Given the description of an element on the screen output the (x, y) to click on. 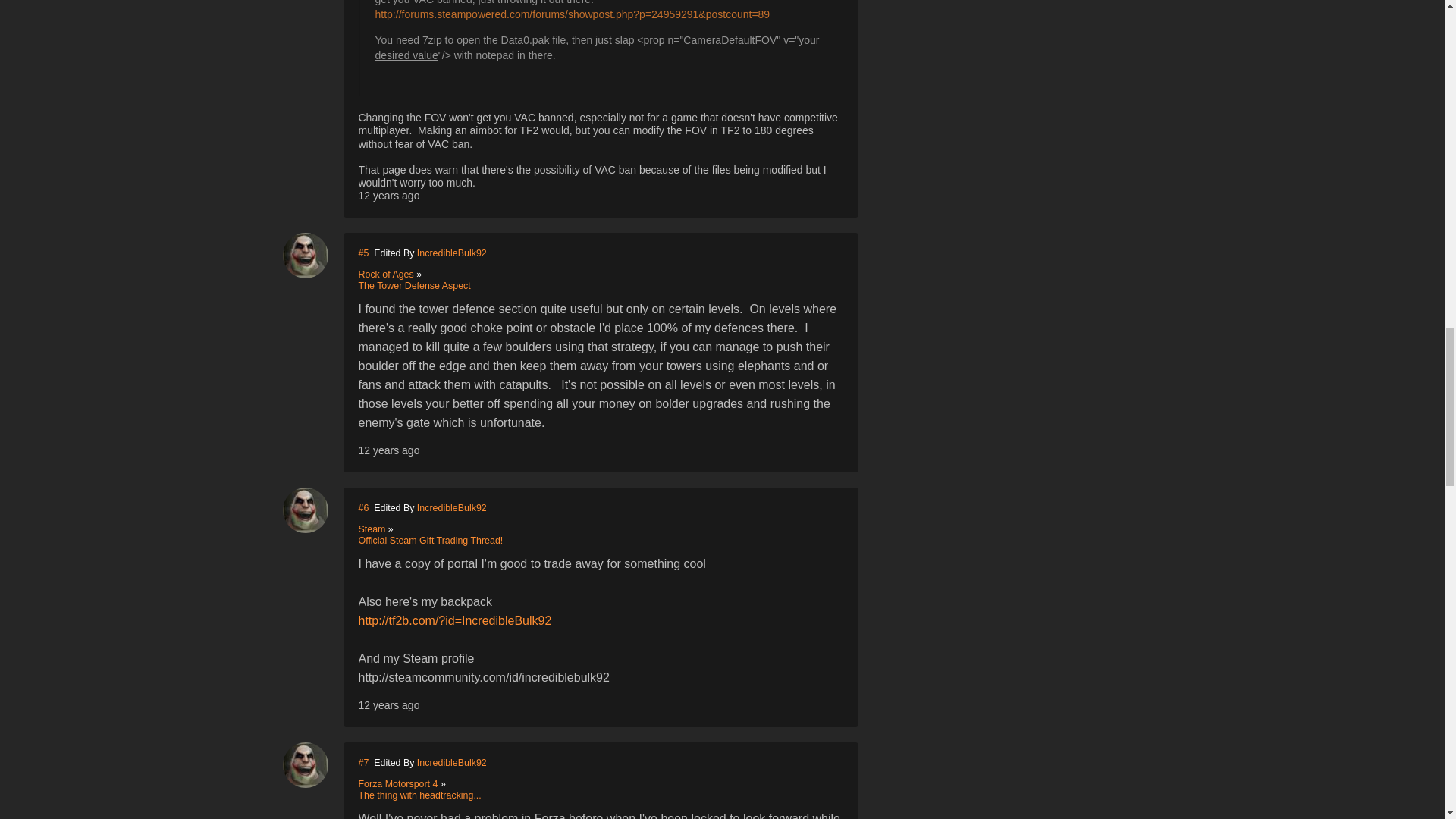
Sep 10, 2011, 4:16am (388, 450)
Aug 10, 2011, 10:54am (388, 705)
Sep 10, 2011, 9:05am (388, 195)
